Given the description of an element on the screen output the (x, y) to click on. 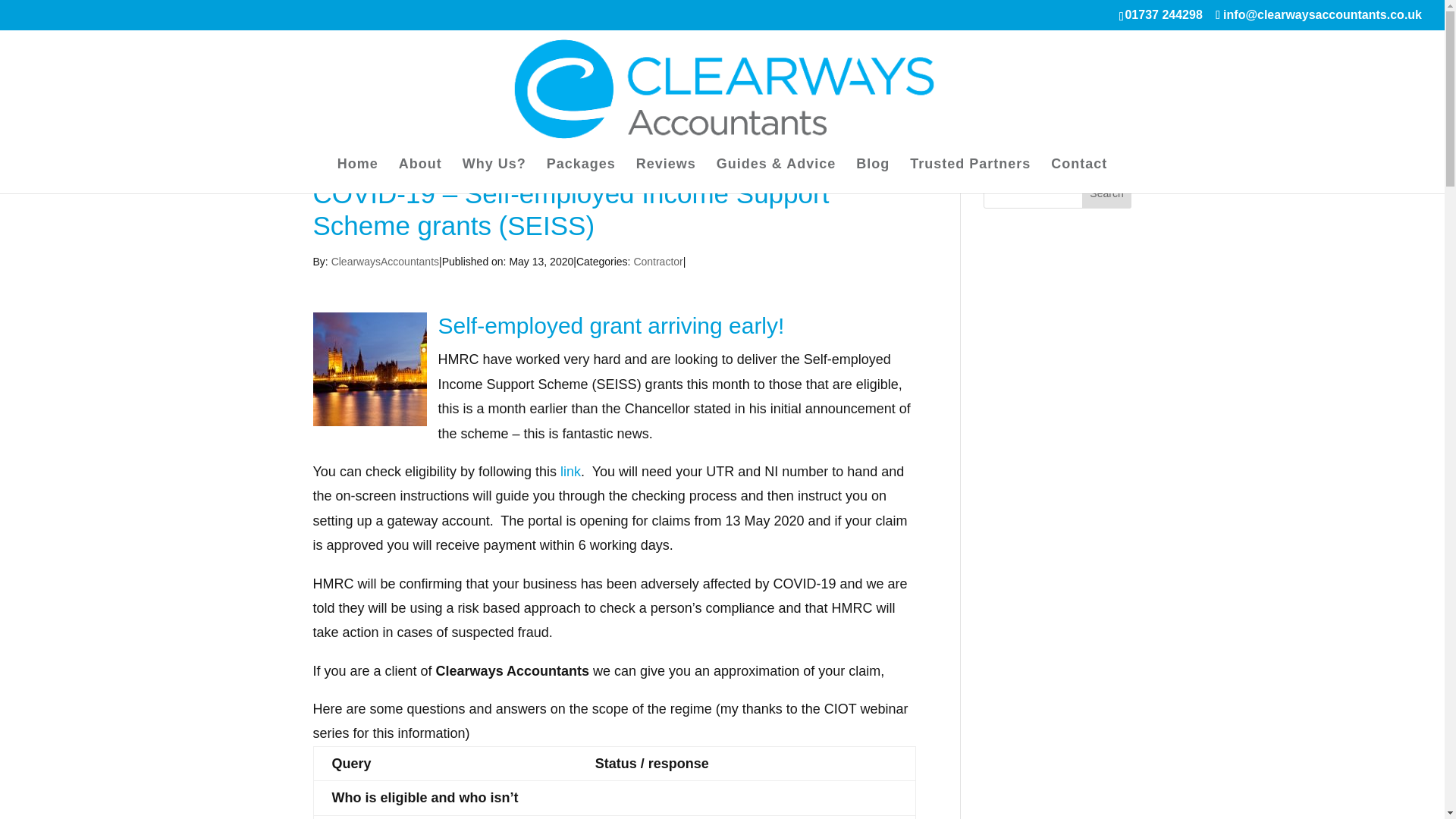
Search (1106, 193)
Posts by ClearwaysAccountants (385, 261)
ClearwaysAccountants (385, 261)
Trusted Partners (970, 175)
Blog (872, 175)
Search (1106, 193)
Reviews (665, 175)
About (420, 175)
Contact (1078, 175)
Home (357, 175)
